Given the description of an element on the screen output the (x, y) to click on. 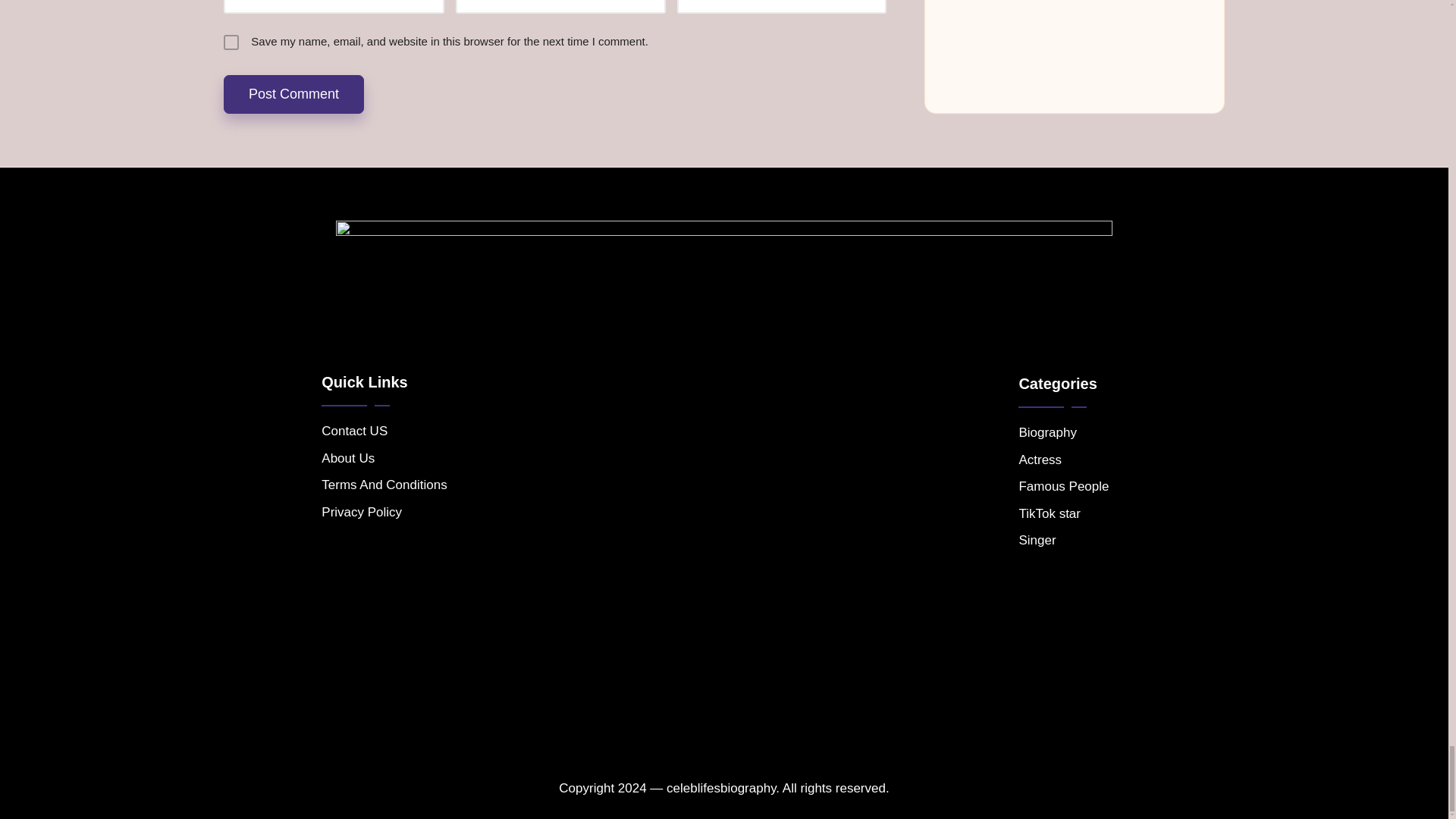
Post Comment (294, 94)
yes (231, 42)
